Given the description of an element on the screen output the (x, y) to click on. 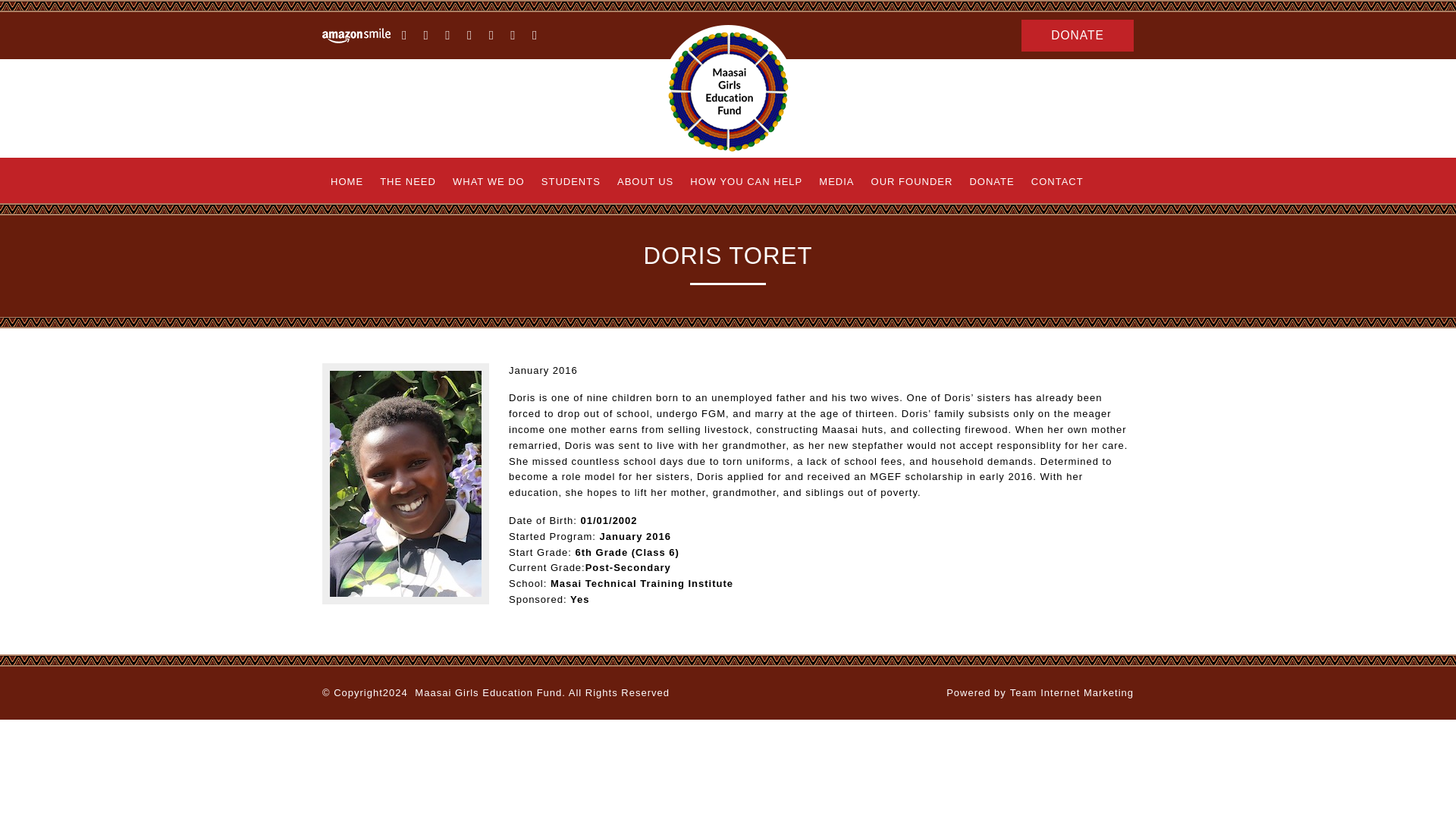
WHAT WE DO (488, 181)
MEDIA (835, 181)
ABOUT US (644, 181)
THE NEED (407, 181)
STUDENTS (570, 181)
HOME (346, 181)
HOW YOU CAN HELP (745, 181)
DONATE (1078, 35)
